Given the description of an element on the screen output the (x, y) to click on. 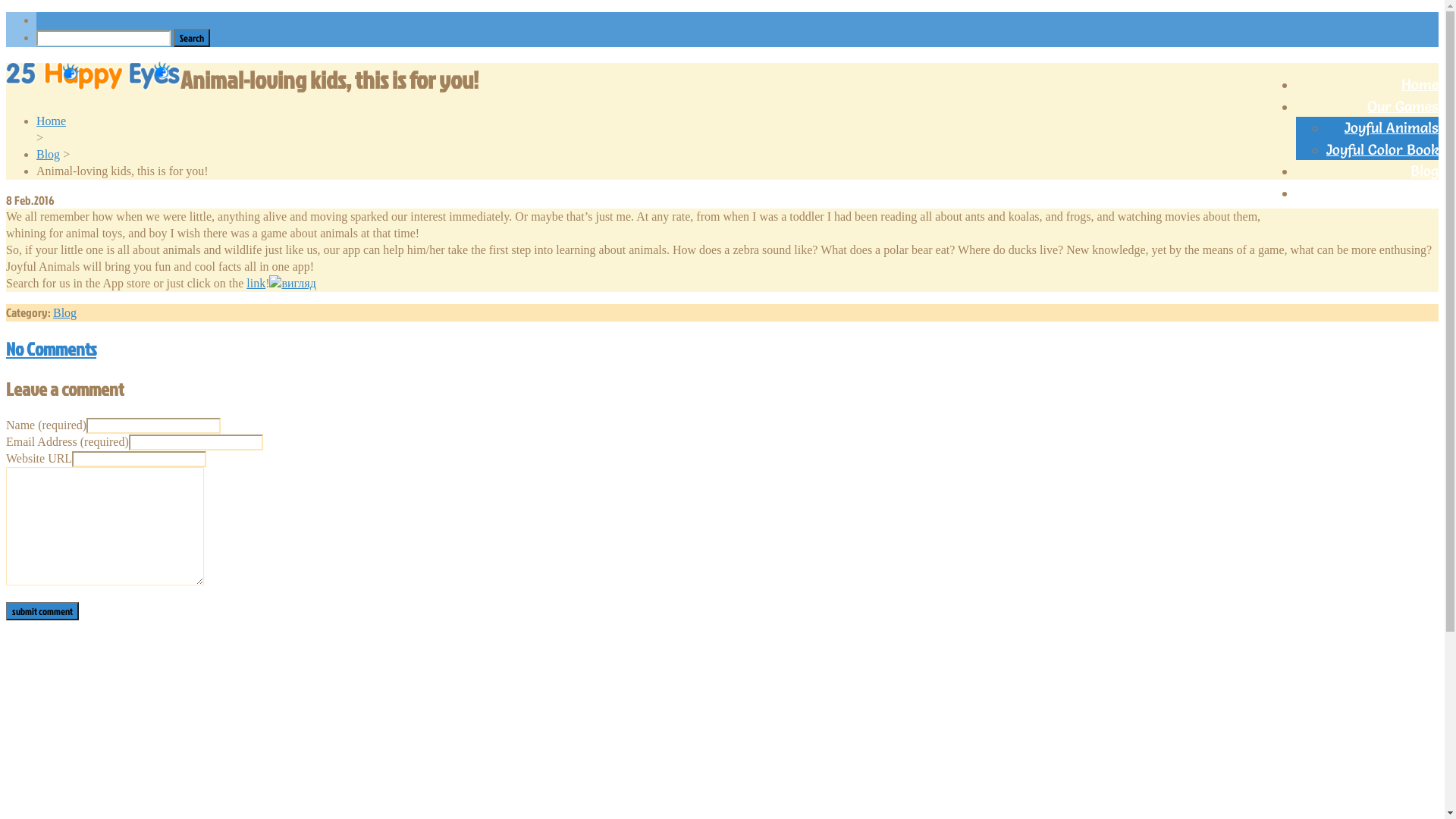
Contacts Element type: text (1409, 192)
link Element type: text (255, 282)
Joyful Animals Element type: text (1391, 127)
Blog Element type: text (47, 153)
Blog Element type: text (64, 312)
No Comments Element type: text (722, 348)
Home Element type: text (1419, 84)
Blog Element type: text (1424, 170)
Joyful Color Book Element type: text (1382, 148)
Our Games Element type: text (1402, 106)
Search Element type: text (191, 37)
submit comment Element type: text (42, 611)
Home Element type: text (50, 120)
25 Happy Eyes Element type: hover (93, 74)
